Given the description of an element on the screen output the (x, y) to click on. 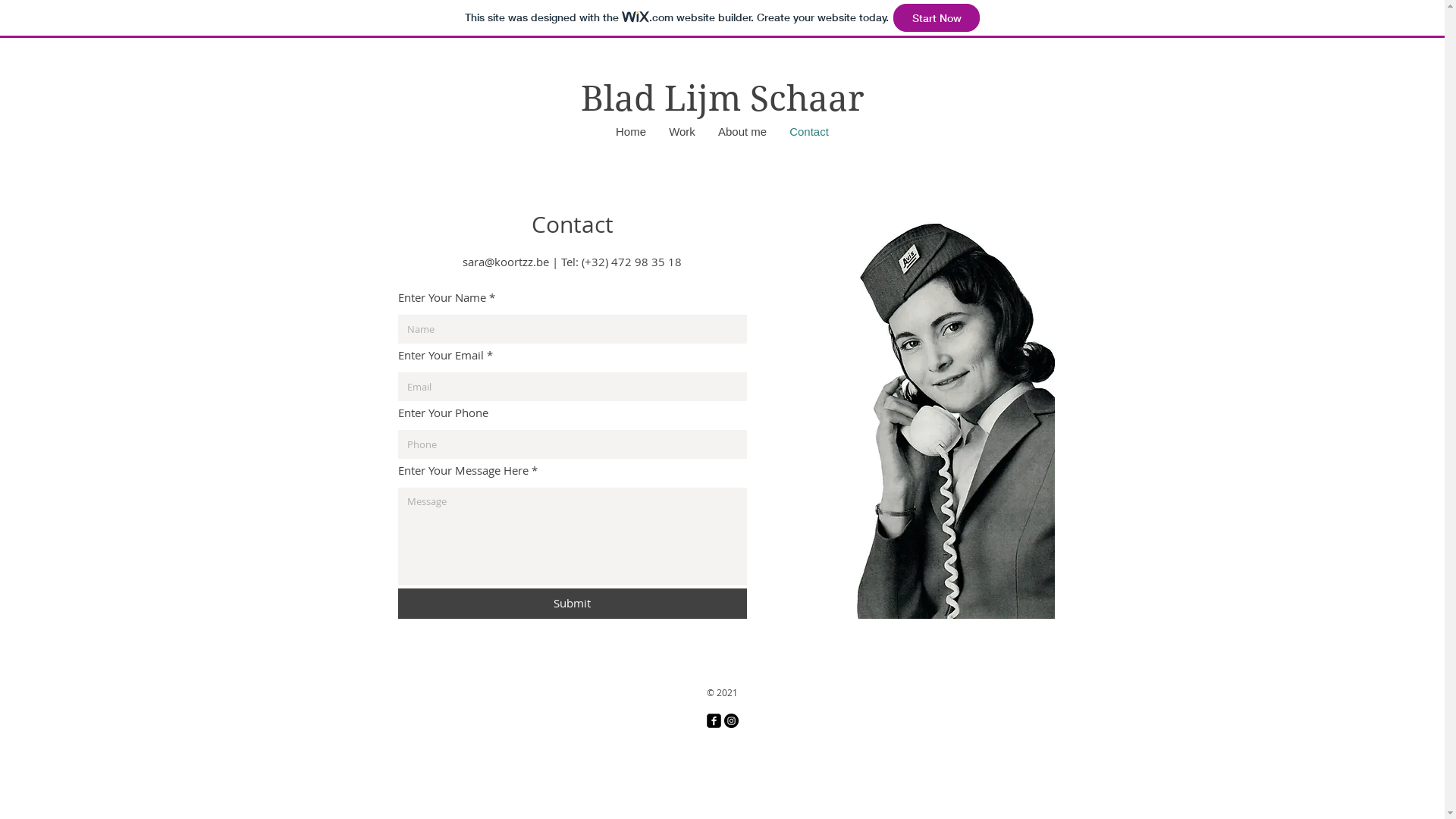
Contact Element type: text (809, 131)
Blad Lijm Schaar Element type: text (722, 98)
sara@koortzz.be Element type: text (505, 261)
About me Element type: text (742, 131)
Home Element type: text (630, 131)
Work Element type: text (681, 131)
Submit Element type: text (571, 603)
